Given the description of an element on the screen output the (x, y) to click on. 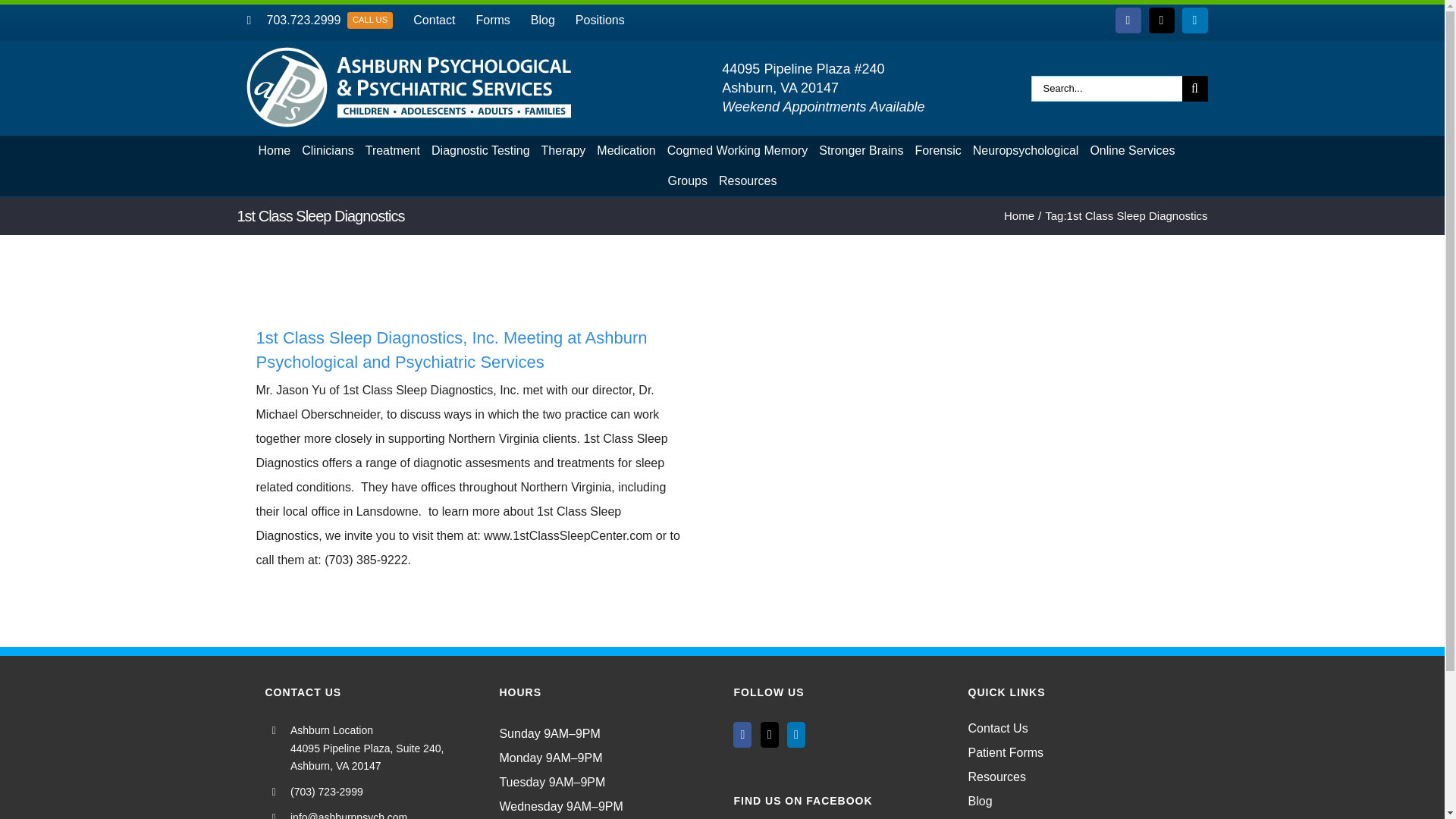
Facebook (1128, 20)
Neuropsychological (1025, 150)
LinkedIn (1195, 20)
Blog (542, 20)
X (1161, 20)
Clinicians (319, 20)
Positions (327, 150)
Contact (600, 20)
Forms (433, 20)
Home (492, 20)
